Given the description of an element on the screen output the (x, y) to click on. 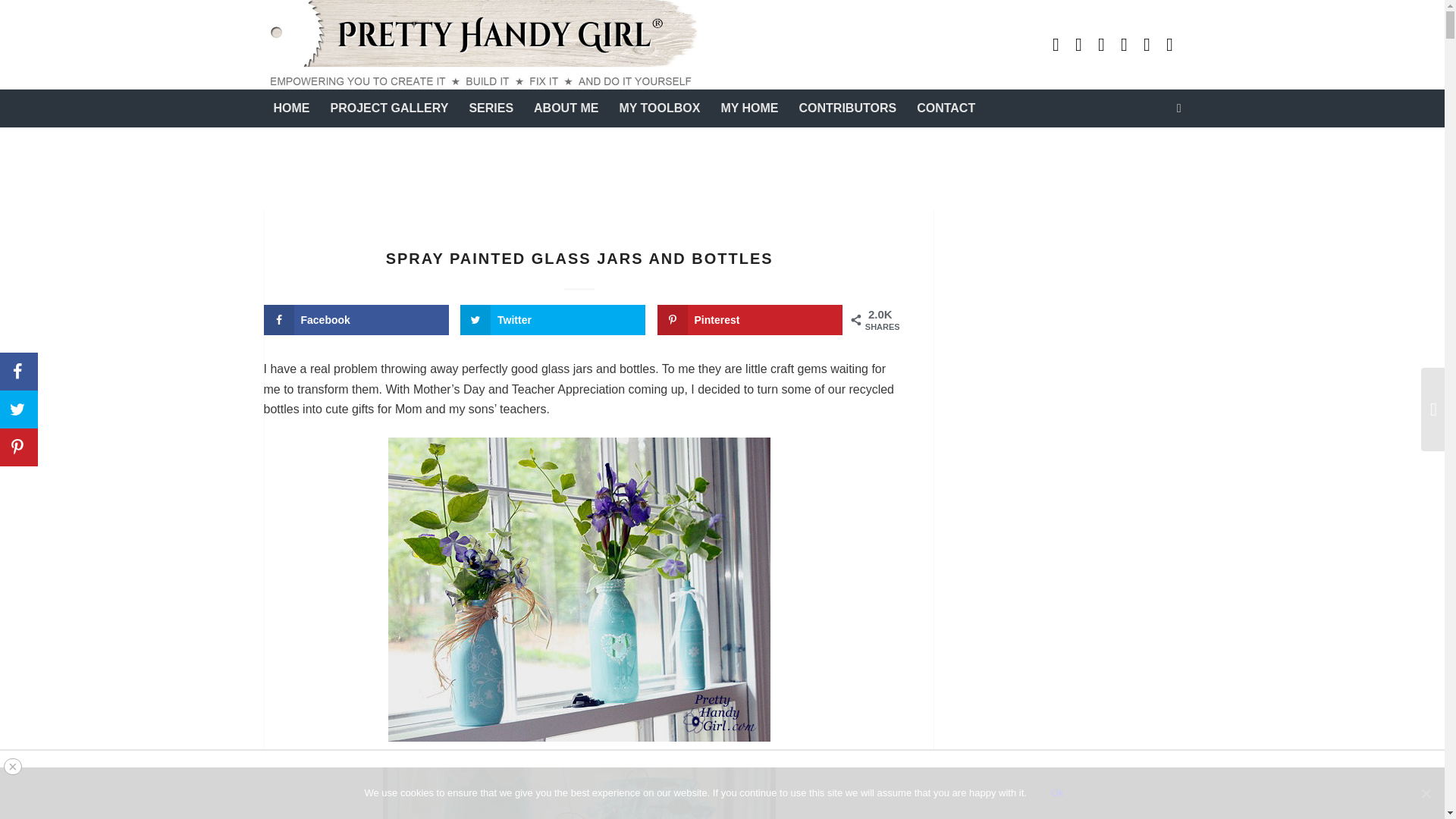
SERIES (490, 108)
Pinterest (1101, 44)
ABOUT ME (565, 108)
MY HOME (748, 108)
CONTRIBUTORS (848, 108)
HOME (291, 108)
Instagram (1124, 44)
MY TOOLBOX (659, 108)
PROJECT GALLERY (389, 108)
CONTACT (945, 108)
Facebook (1146, 44)
Youtube (1056, 44)
Twitter (1169, 44)
